Given the description of an element on the screen output the (x, y) to click on. 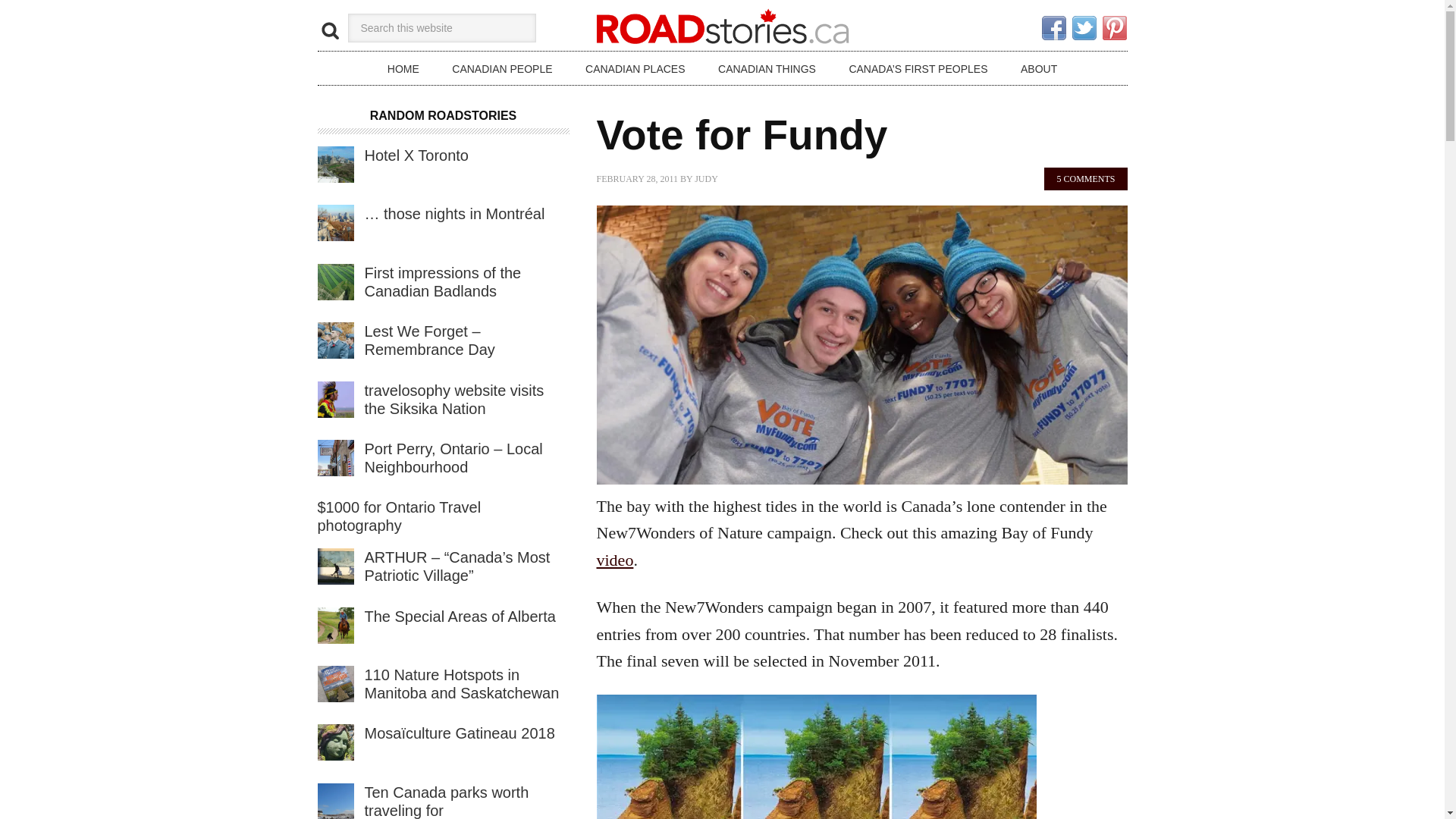
Amazing video of Canada's Bay of Fundy (614, 559)
CANADIAN ROADSTORIES (721, 25)
CANADIAN THINGS (767, 68)
HOME (402, 68)
CANADIAN PLACES (635, 68)
ABOUT (1038, 68)
CANADIAN PEOPLE (501, 68)
5 COMMENTS (1084, 178)
hopewell-rocks (815, 756)
JUDY (705, 178)
video (614, 559)
